Given the description of an element on the screen output the (x, y) to click on. 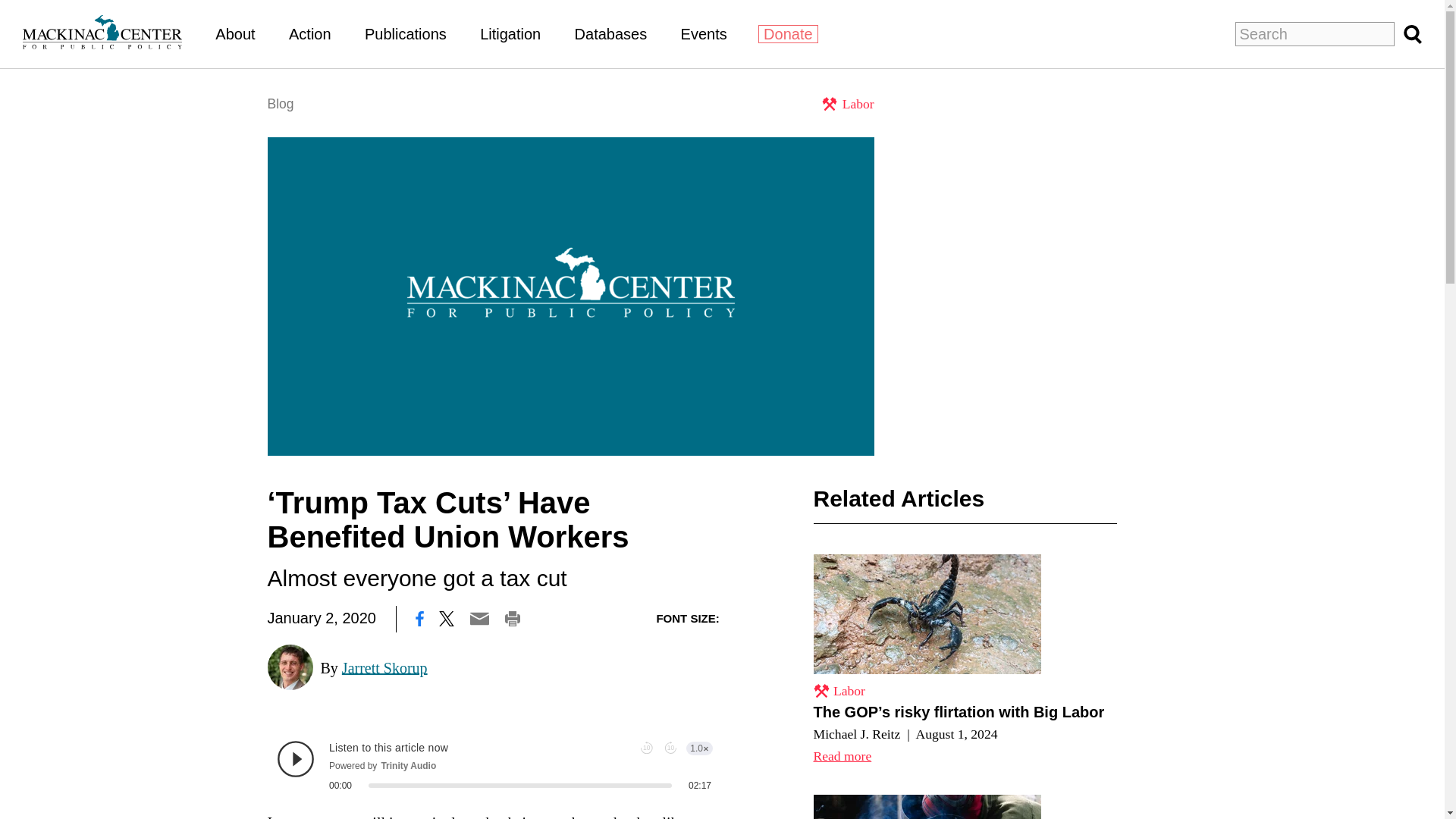
Trinity Audio Player (494, 765)
Action (309, 33)
Jarrett Skorup (385, 667)
Databases (611, 33)
Publications (405, 33)
Michael J. Reitz (855, 734)
Events (703, 33)
Labor (838, 690)
Donate (788, 34)
Blog (280, 103)
